Given the description of an element on the screen output the (x, y) to click on. 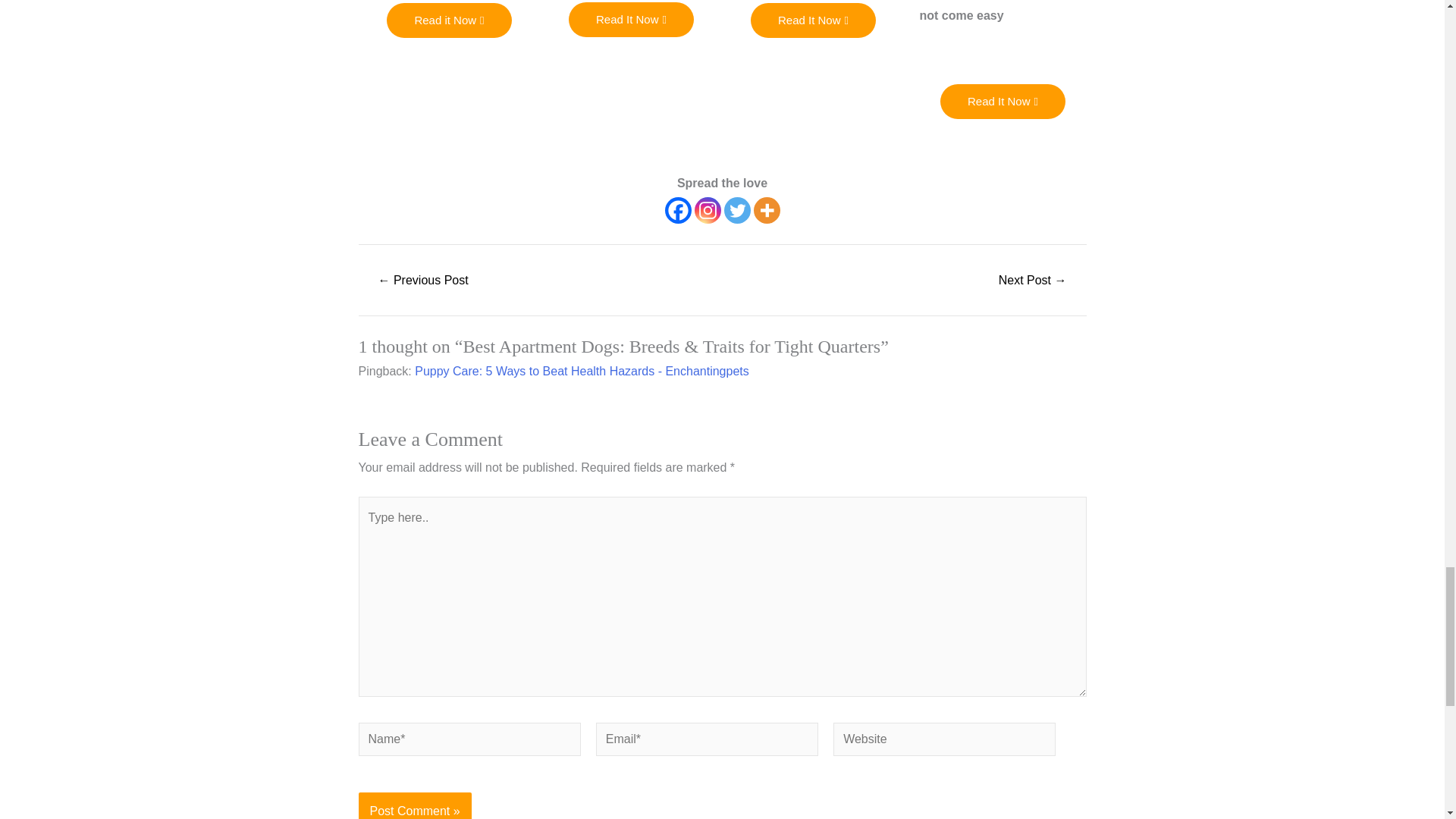
Twitter (736, 210)
Facebook (676, 210)
Puppy potty training does not come easy (422, 280)
Instagram (707, 210)
More (767, 210)
Can Dogs Eat Cheese? A Guide to  Safety for Dogs (1031, 280)
